Given the description of an element on the screen output the (x, y) to click on. 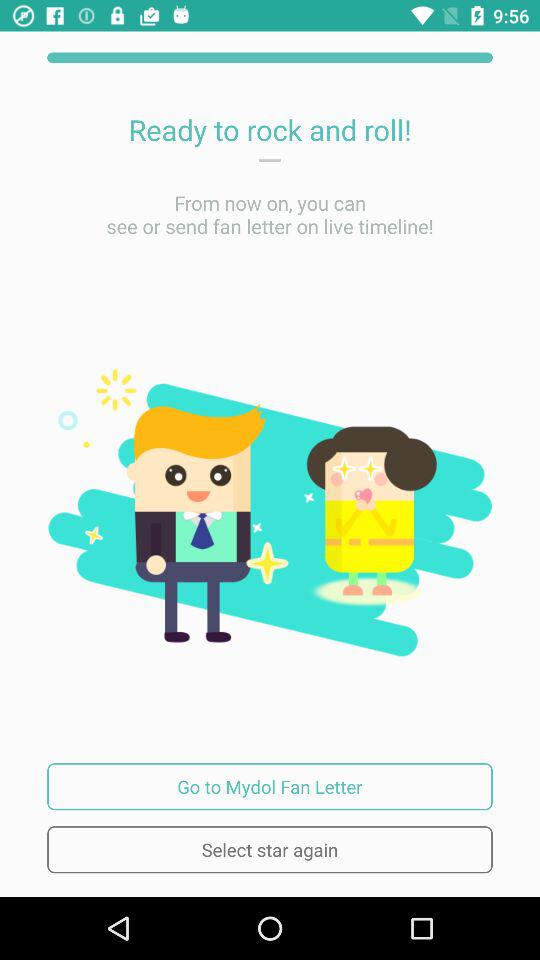
flip until select star again icon (269, 849)
